Given the description of an element on the screen output the (x, y) to click on. 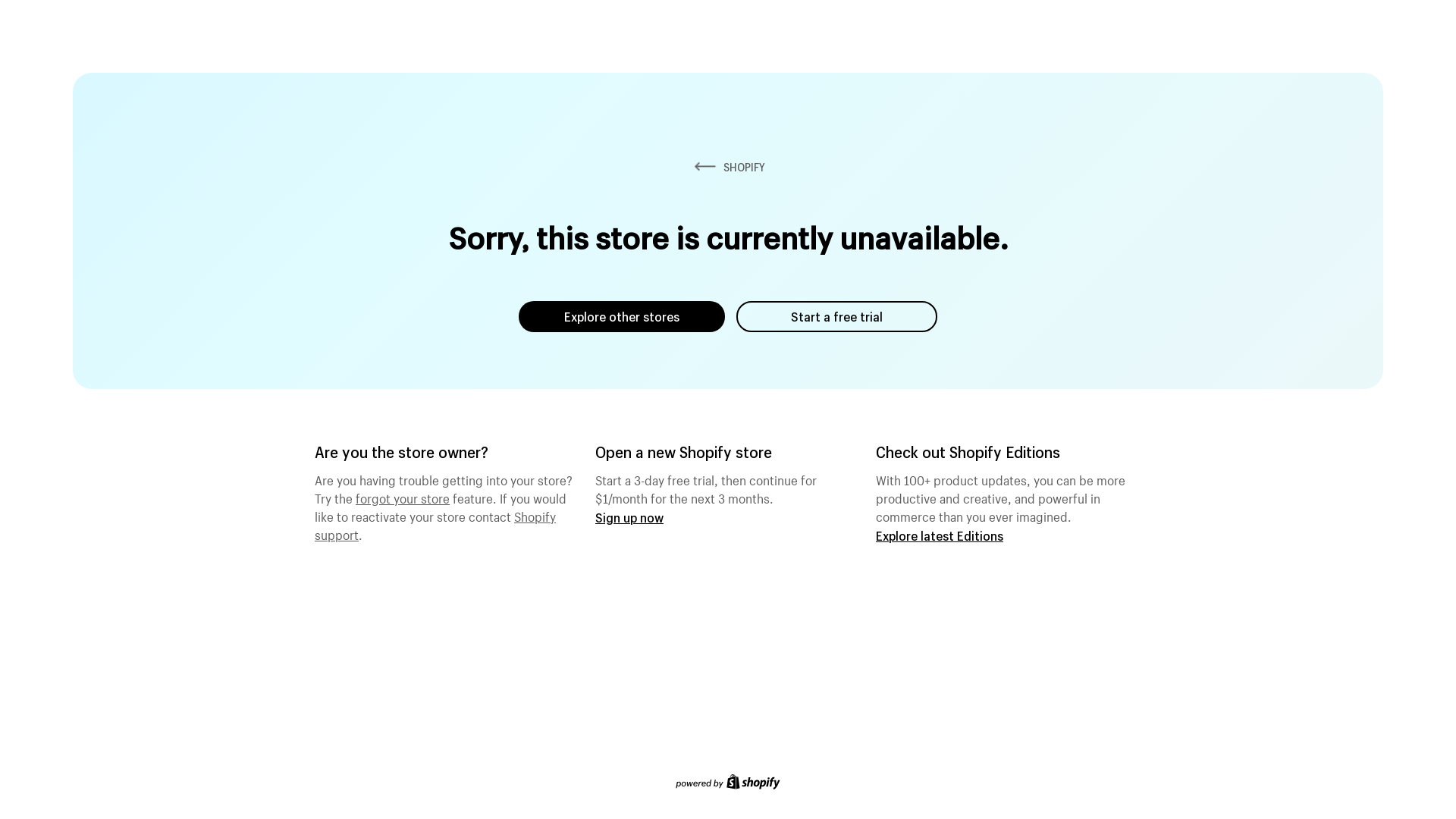
Shopify support Element type: text (434, 523)
Sign up now Element type: text (629, 517)
Start a free trial Element type: text (836, 316)
Explore latest Editions Element type: text (939, 535)
forgot your store Element type: text (402, 496)
SHOPIFY Element type: text (727, 167)
Explore other stores Element type: text (621, 316)
